Given the description of an element on the screen output the (x, y) to click on. 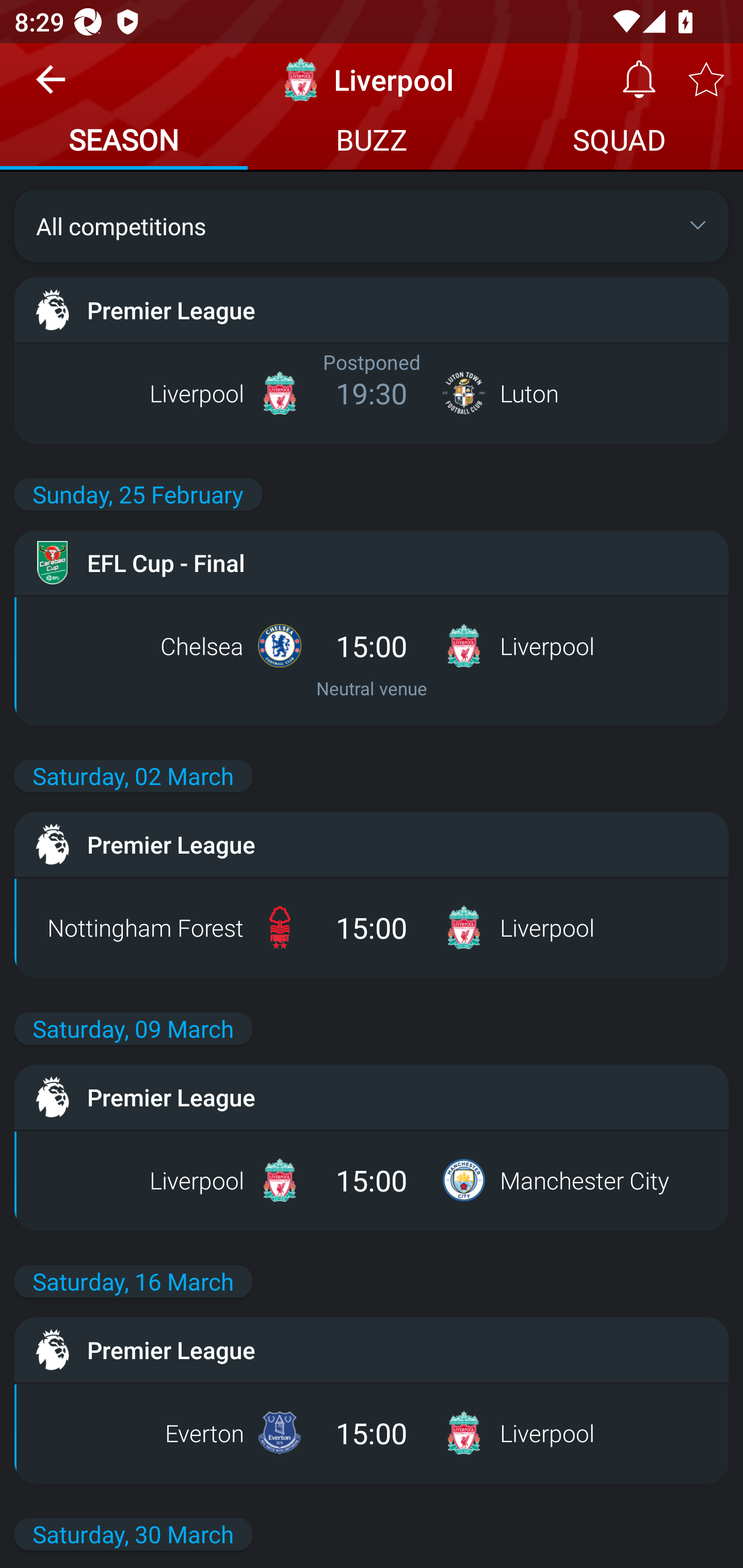
Navigate up (50, 86)
SEASON (123, 142)
BUZZ (371, 142)
SQUAD (619, 142)
All competitions (371, 225)
Premier League (371, 309)
Liverpool Postponed 19:30 Luton (371, 392)
EFL Cup - Final (371, 562)
Chelsea 15:00 Liverpool Neutral venue (371, 659)
Premier League (371, 844)
Nottingham Forest 15:00 Liverpool (371, 927)
Premier League (371, 1096)
Liverpool 15:00 Manchester City (371, 1179)
Premier League (371, 1349)
Everton 15:00 Liverpool (371, 1432)
